Given the description of an element on the screen output the (x, y) to click on. 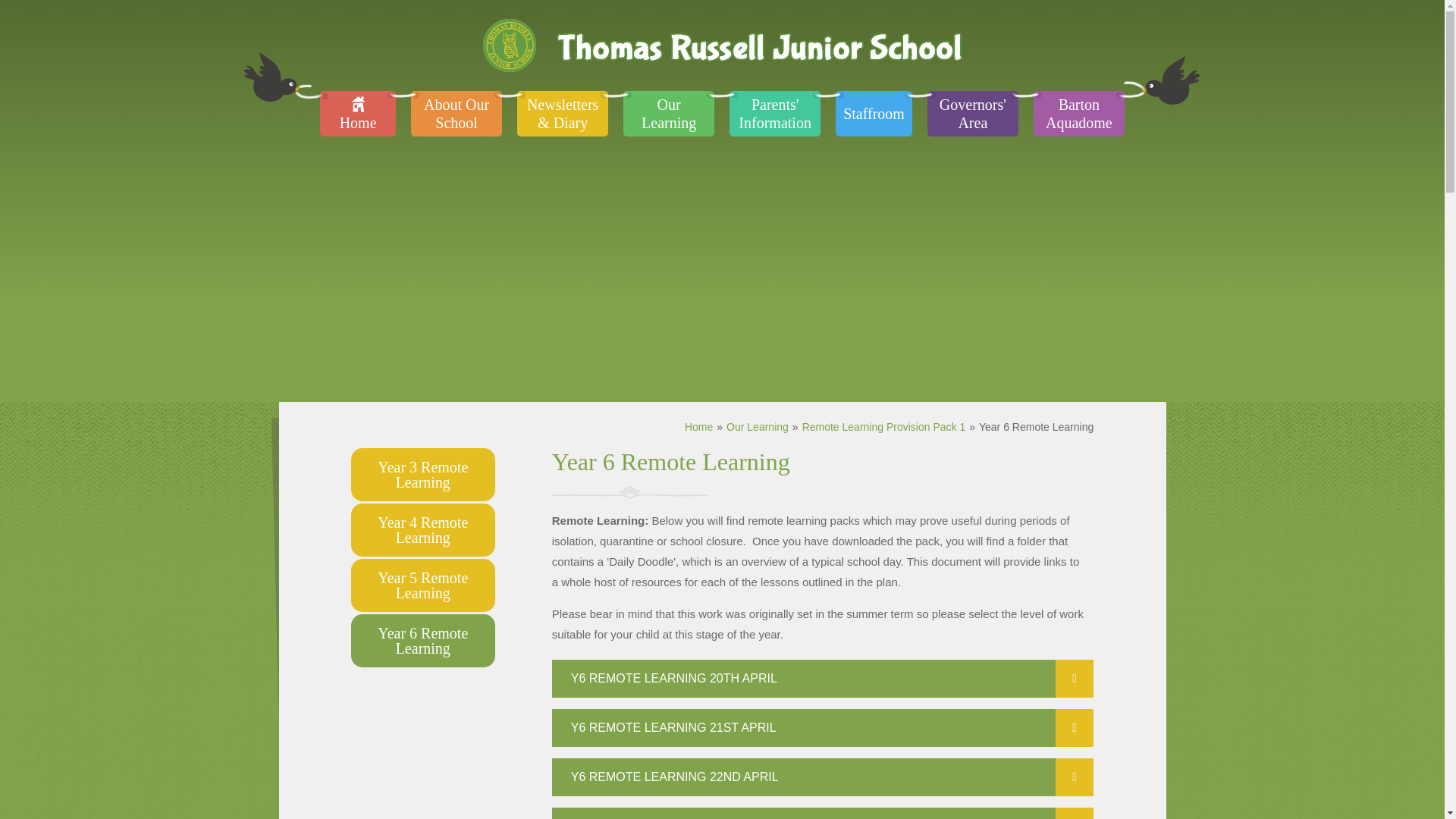
Governors' Area (972, 113)
Download (1074, 678)
Year 6 Remote Learning (1035, 426)
Our Learning (668, 113)
Parents' Information (775, 113)
Staffroom (873, 113)
Y6 REMOTE LEARNING 22ND APRIL (822, 777)
Download (1074, 777)
Home (698, 426)
Home (358, 113)
